Given the description of an element on the screen output the (x, y) to click on. 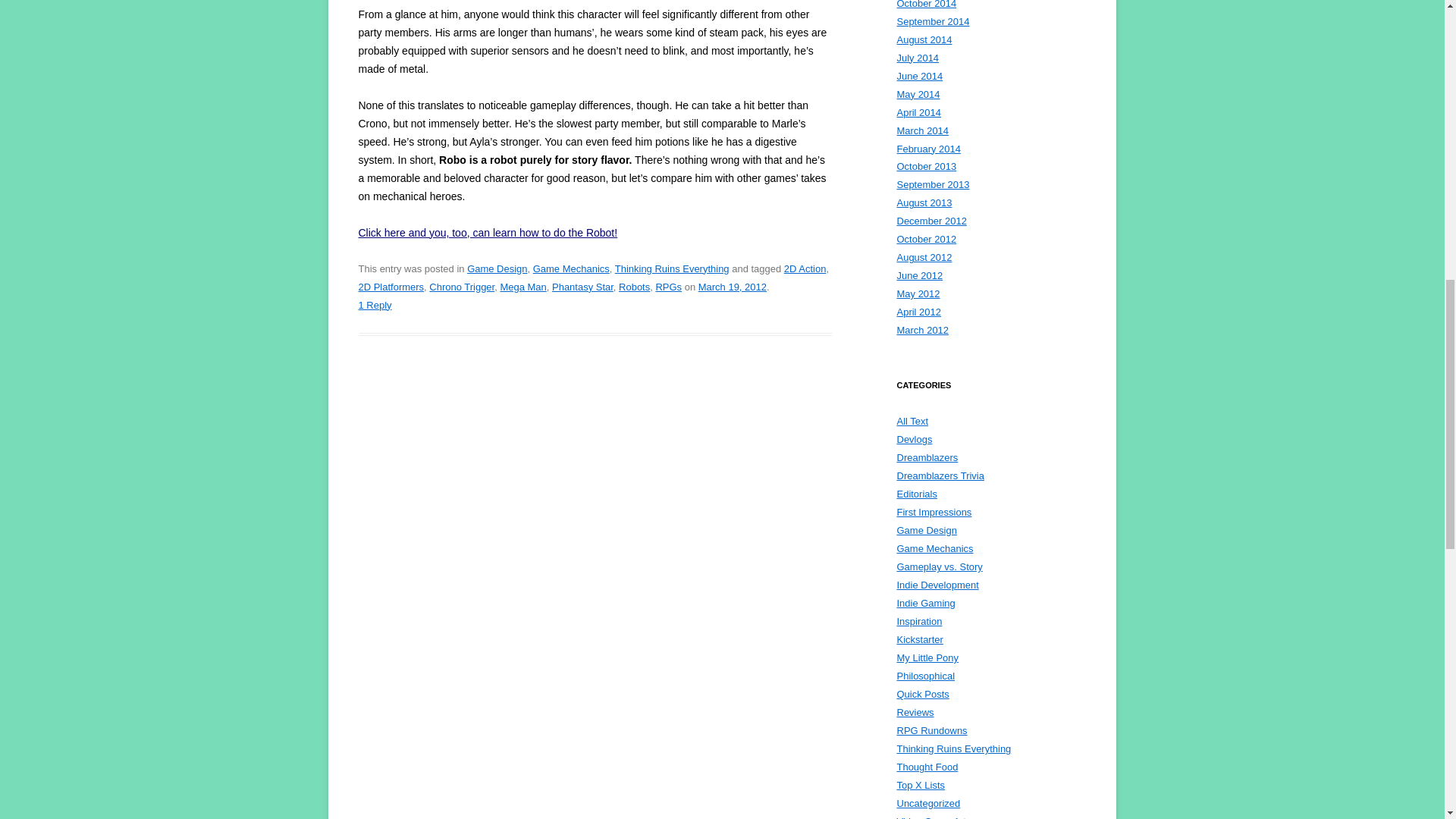
1 Reply (374, 305)
Game Design (497, 268)
March 19, 2012 (732, 286)
Game Mechanics (571, 268)
Phantasy Star (581, 286)
Mega Man (522, 286)
Robots (633, 286)
2D Platformers (390, 286)
Click here and you, too, can learn how to do the Robot! (487, 232)
2D Action (805, 268)
